Given the description of an element on the screen output the (x, y) to click on. 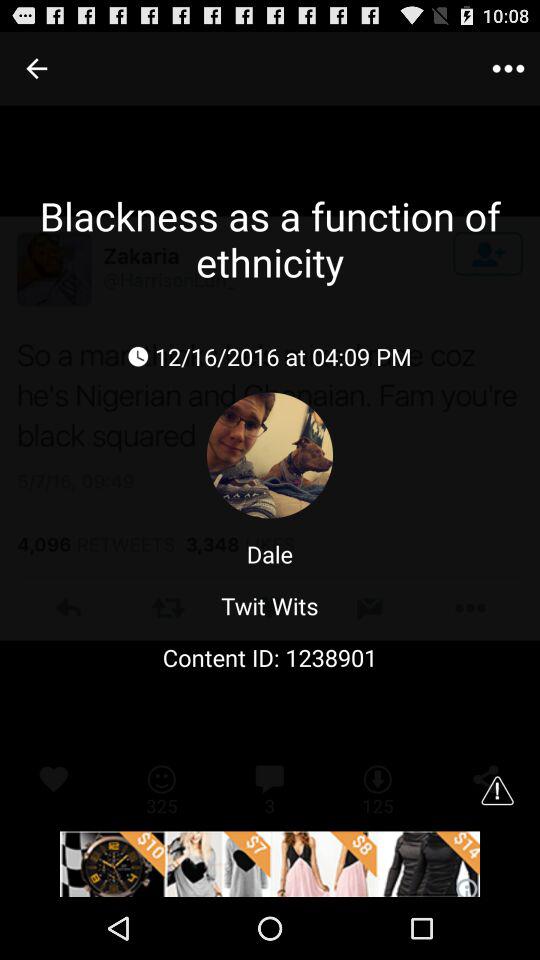
report displayed content (497, 790)
